Given the description of an element on the screen output the (x, y) to click on. 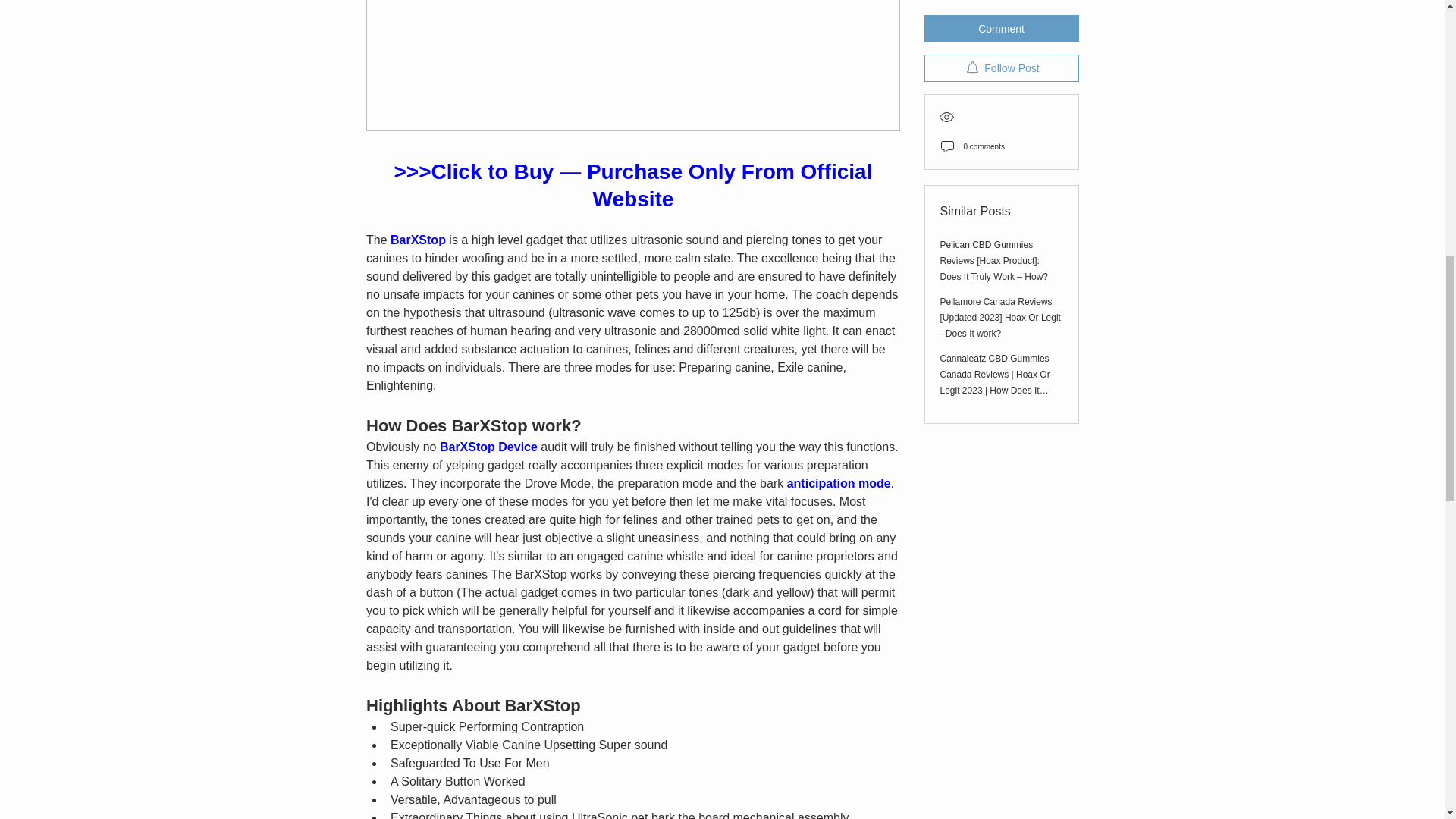
BarXStop (417, 239)
BarXStop Device (488, 446)
anticipation mode (837, 482)
